Given the description of an element on the screen output the (x, y) to click on. 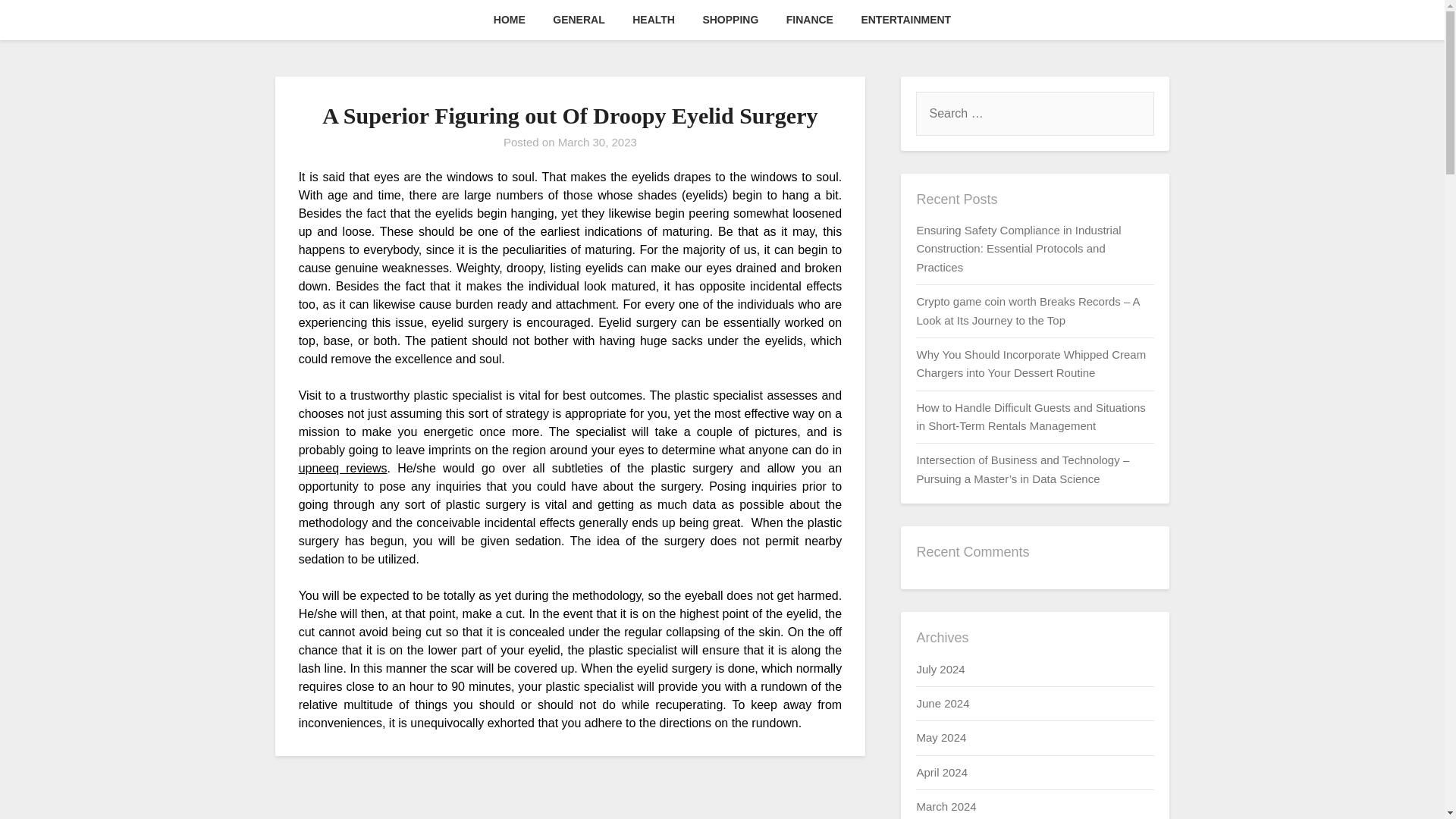
Search (37, 22)
March 2024 (945, 806)
HEALTH (653, 20)
July 2024 (939, 668)
ENTERTAINMENT (905, 20)
April 2024 (941, 771)
GENERAL (577, 20)
May 2024 (940, 737)
March 30, 2023 (597, 141)
upneeq reviews (342, 468)
FINANCE (809, 20)
June 2024 (942, 703)
SHOPPING (730, 20)
